Given the description of an element on the screen output the (x, y) to click on. 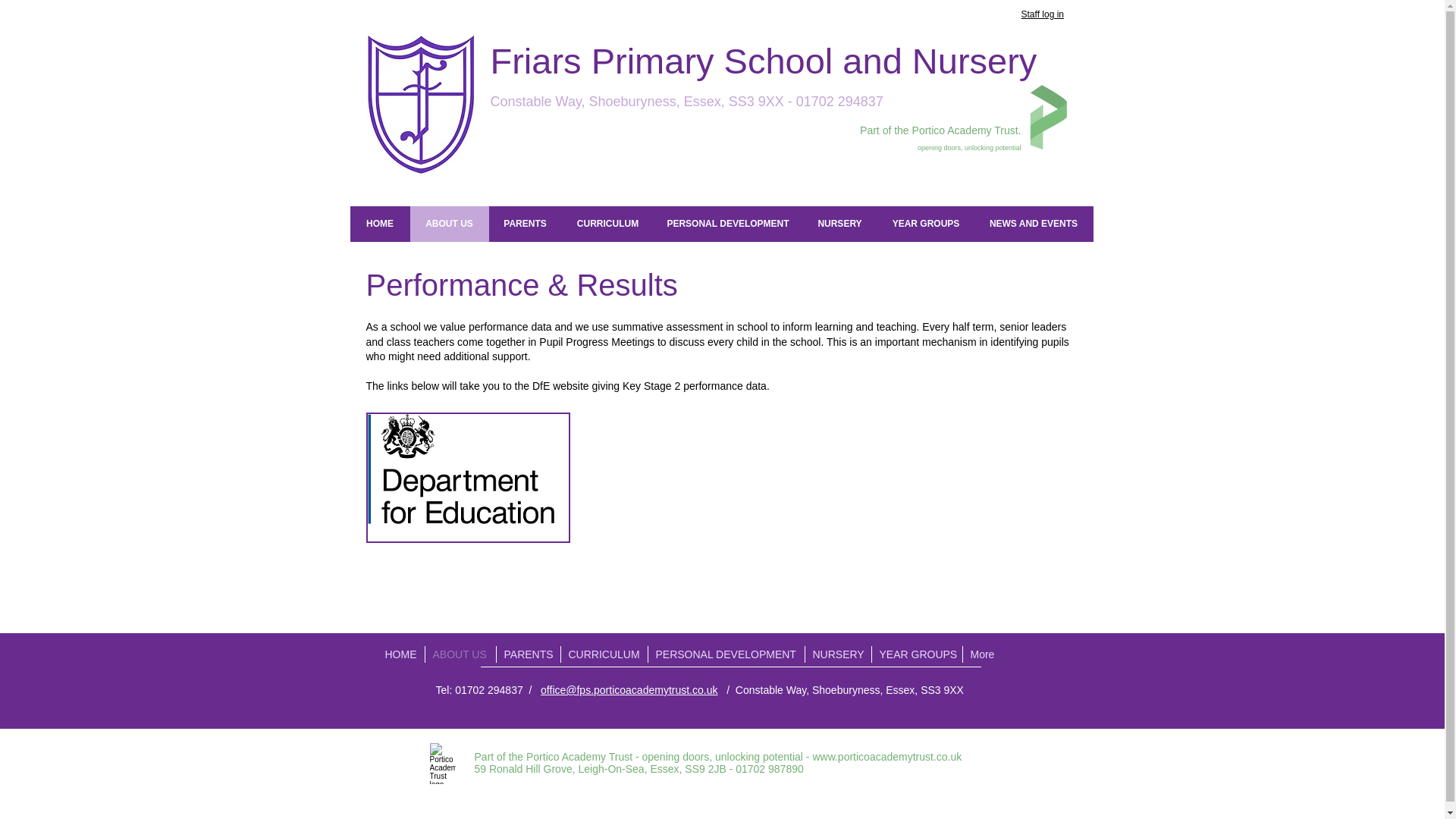
ABOUT US (448, 223)
Staff log in (1041, 14)
PERSONAL DEVELOPMENT (727, 223)
HOME (380, 223)
NURSERY (839, 223)
PARENTS (523, 223)
YEAR GROUPS (925, 223)
CURRICULUM (606, 223)
